Given the description of an element on the screen output the (x, y) to click on. 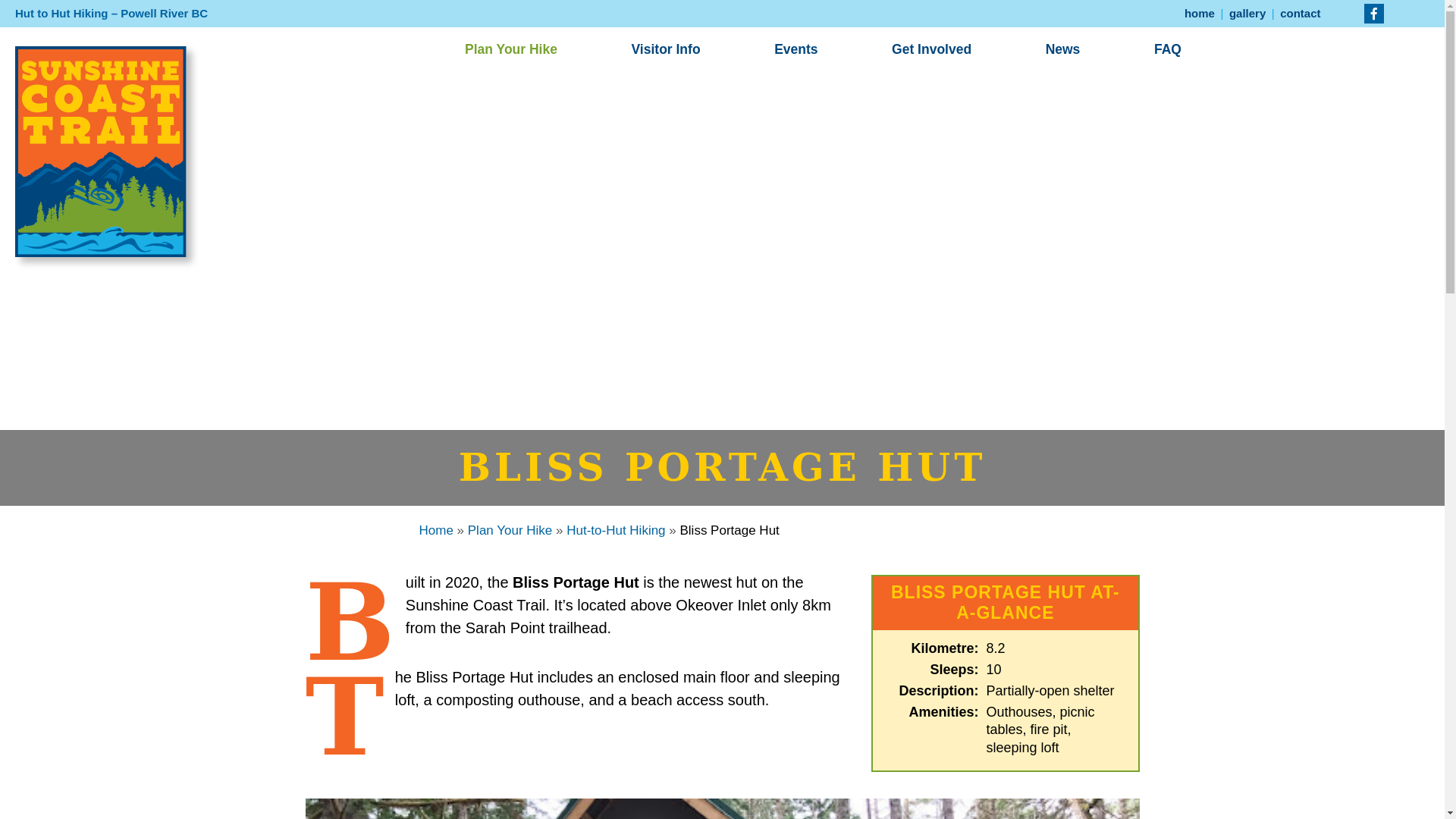
Home (435, 530)
contact (1299, 13)
Get Involved (931, 49)
Plan Your Hike (510, 530)
home (1199, 13)
gallery (1246, 13)
Events (795, 49)
Visitor Info (664, 49)
Search (64, 15)
Hut-to-Hut Hiking (615, 530)
